Given the description of an element on the screen output the (x, y) to click on. 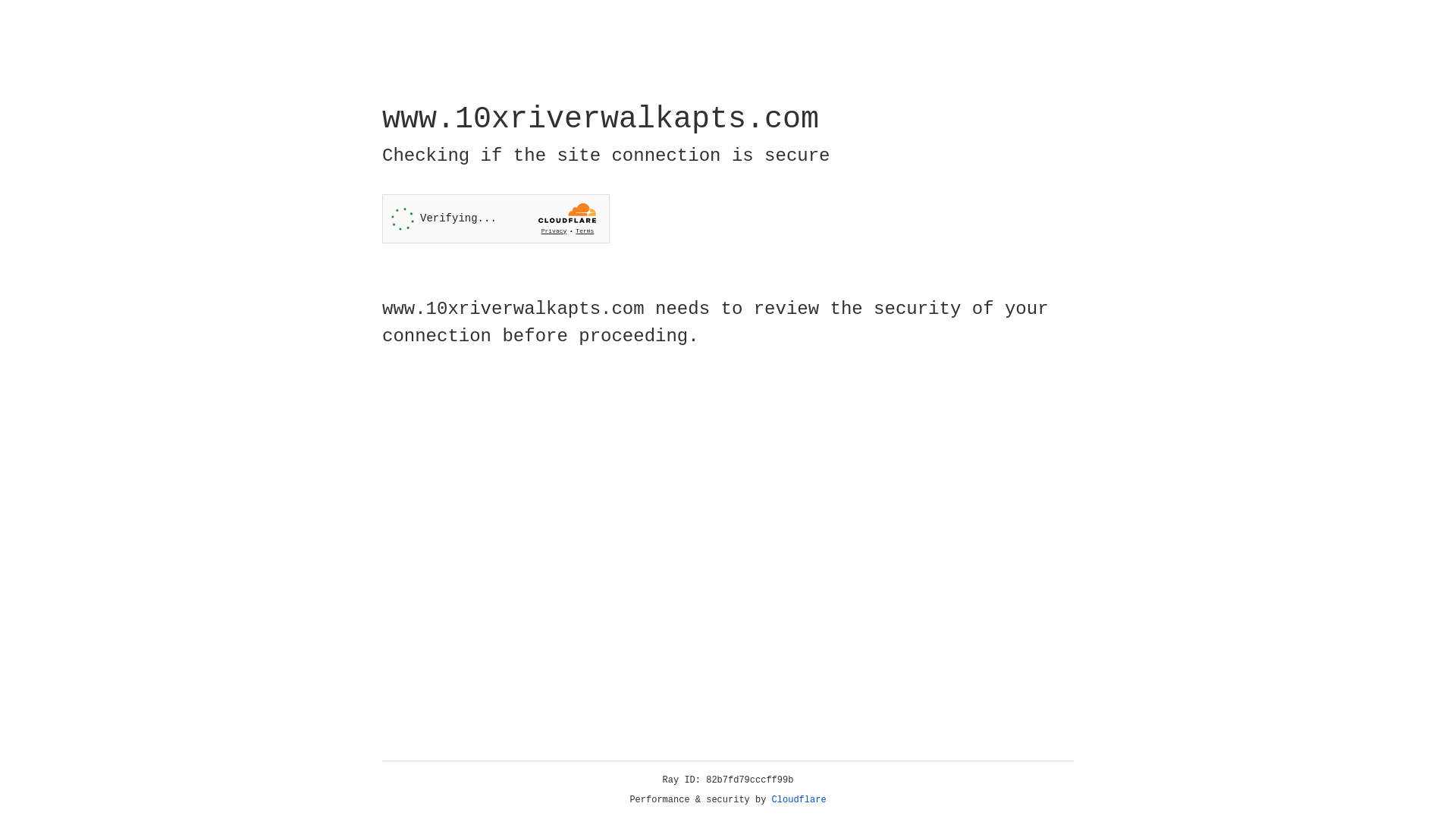
Widget containing a Cloudflare security challenge Element type: hover (495, 218)
Cloudflare Element type: text (798, 799)
